Given the description of an element on the screen output the (x, y) to click on. 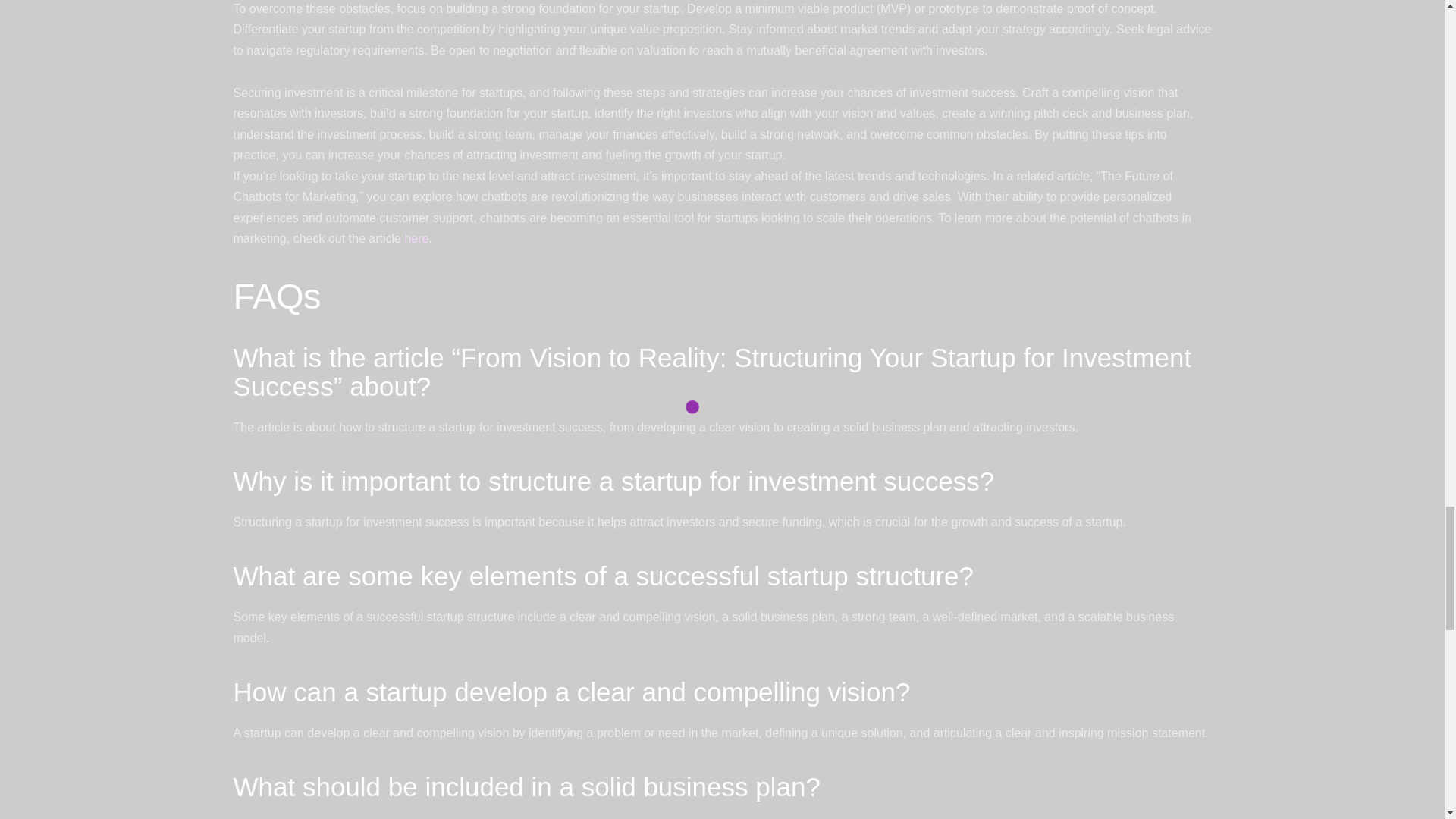
here (416, 237)
